Given the description of an element on the screen output the (x, y) to click on. 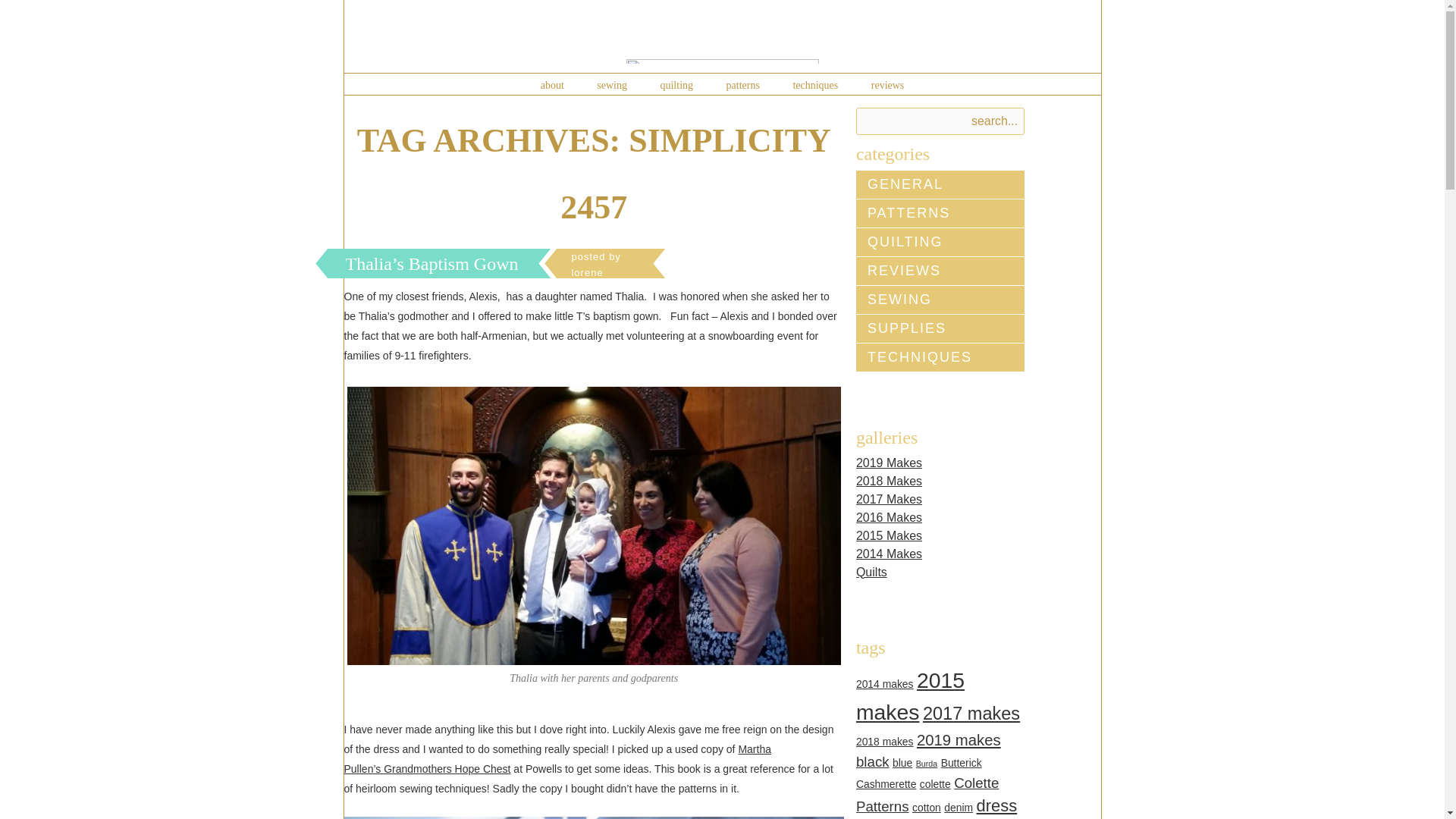
2015 Makes (888, 535)
2014 Makes (888, 553)
Burda (926, 763)
2017 Makes (888, 499)
2016 Makes (888, 517)
2014 makes (885, 684)
2019 Makes (888, 462)
black (872, 761)
2018 makes (885, 741)
View all posts by lorene (595, 264)
